Given the description of an element on the screen output the (x, y) to click on. 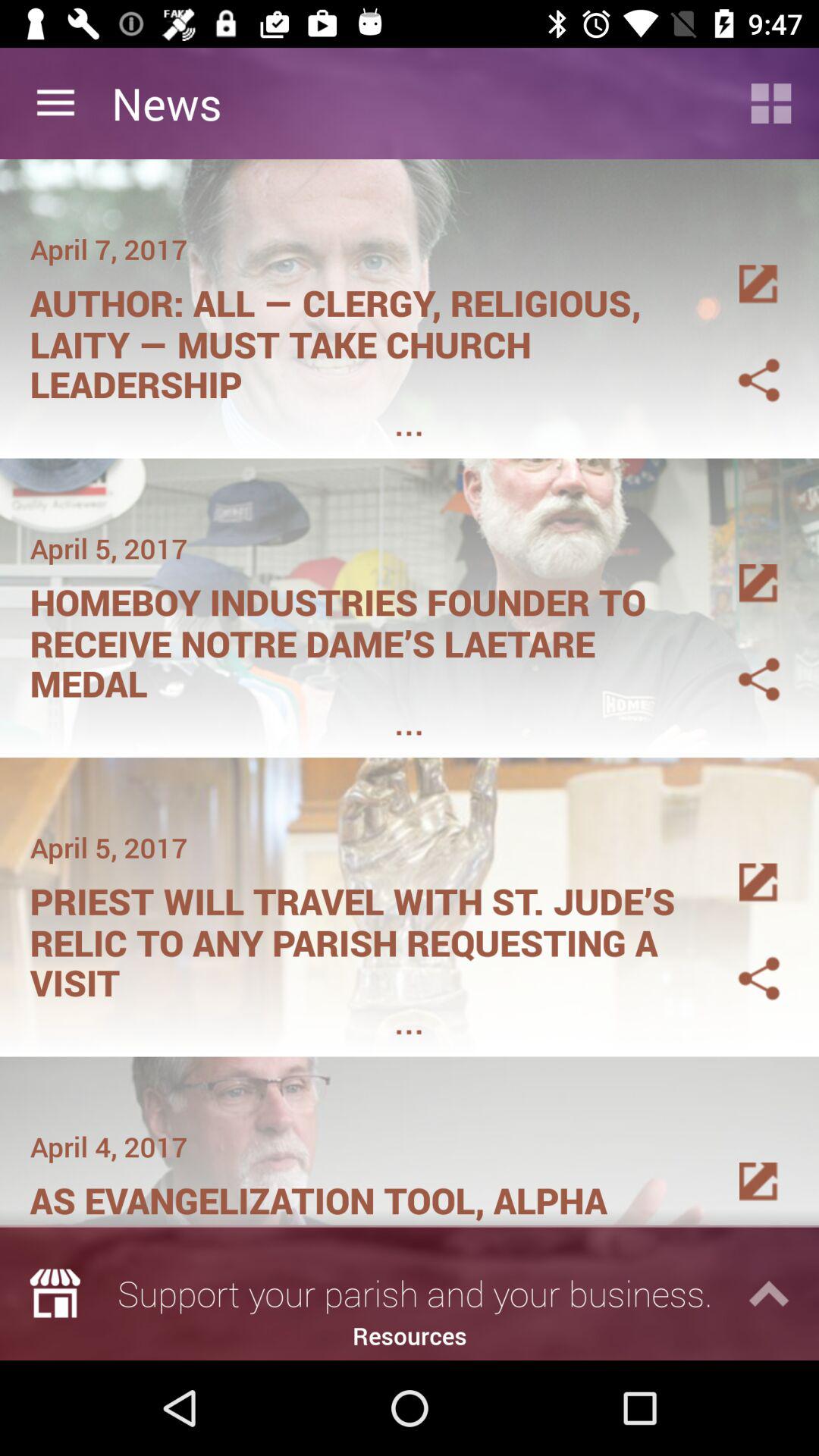
many option (740, 266)
